Given the description of an element on the screen output the (x, y) to click on. 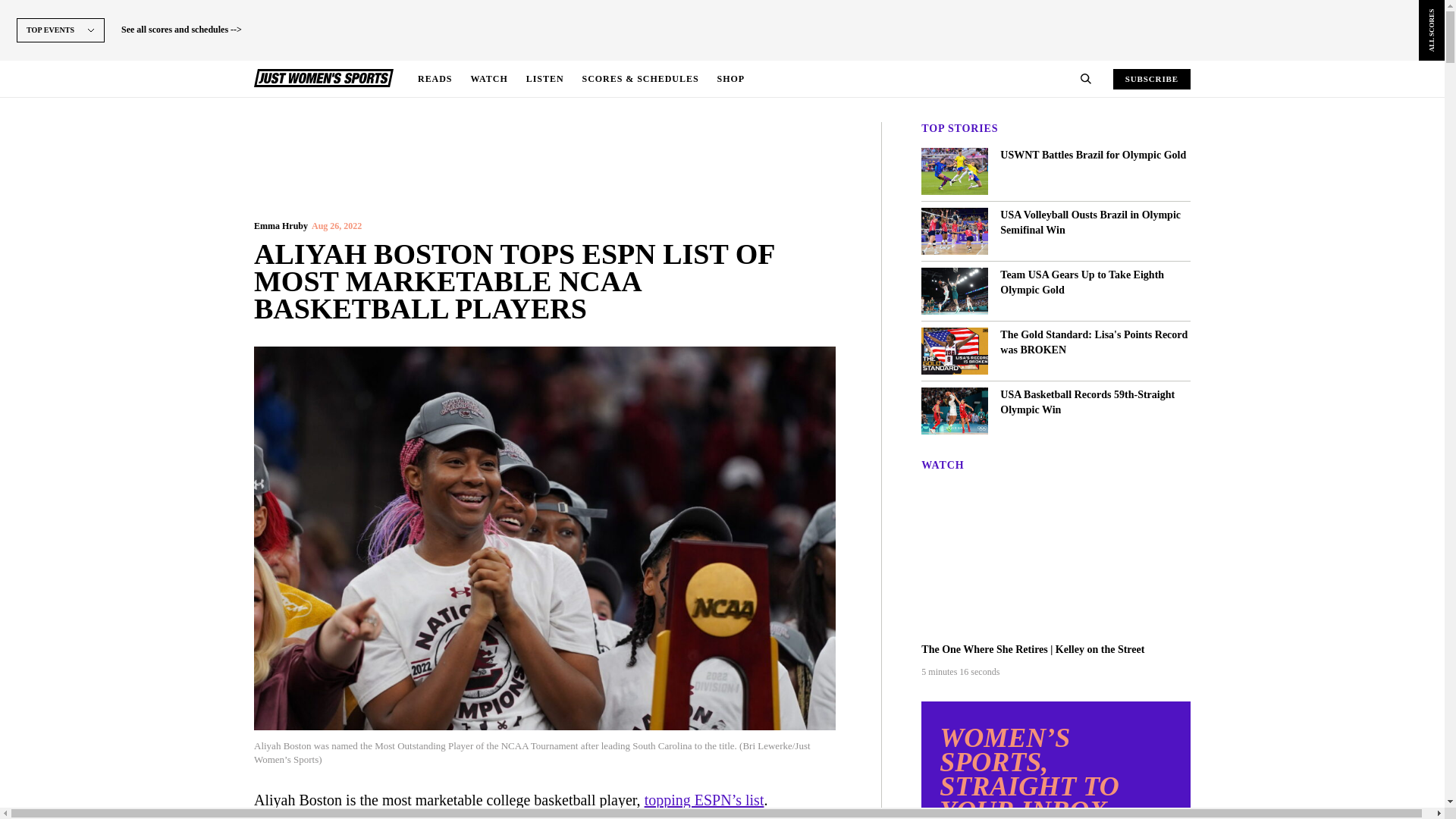
3rd party ad content (544, 156)
SUBSCRIBE (1152, 77)
WATCH (488, 78)
LISTEN (544, 78)
SHOP (730, 78)
YouTube video player (1056, 560)
READS (435, 78)
TOP EVENTS (60, 52)
